Given the description of an element on the screen output the (x, y) to click on. 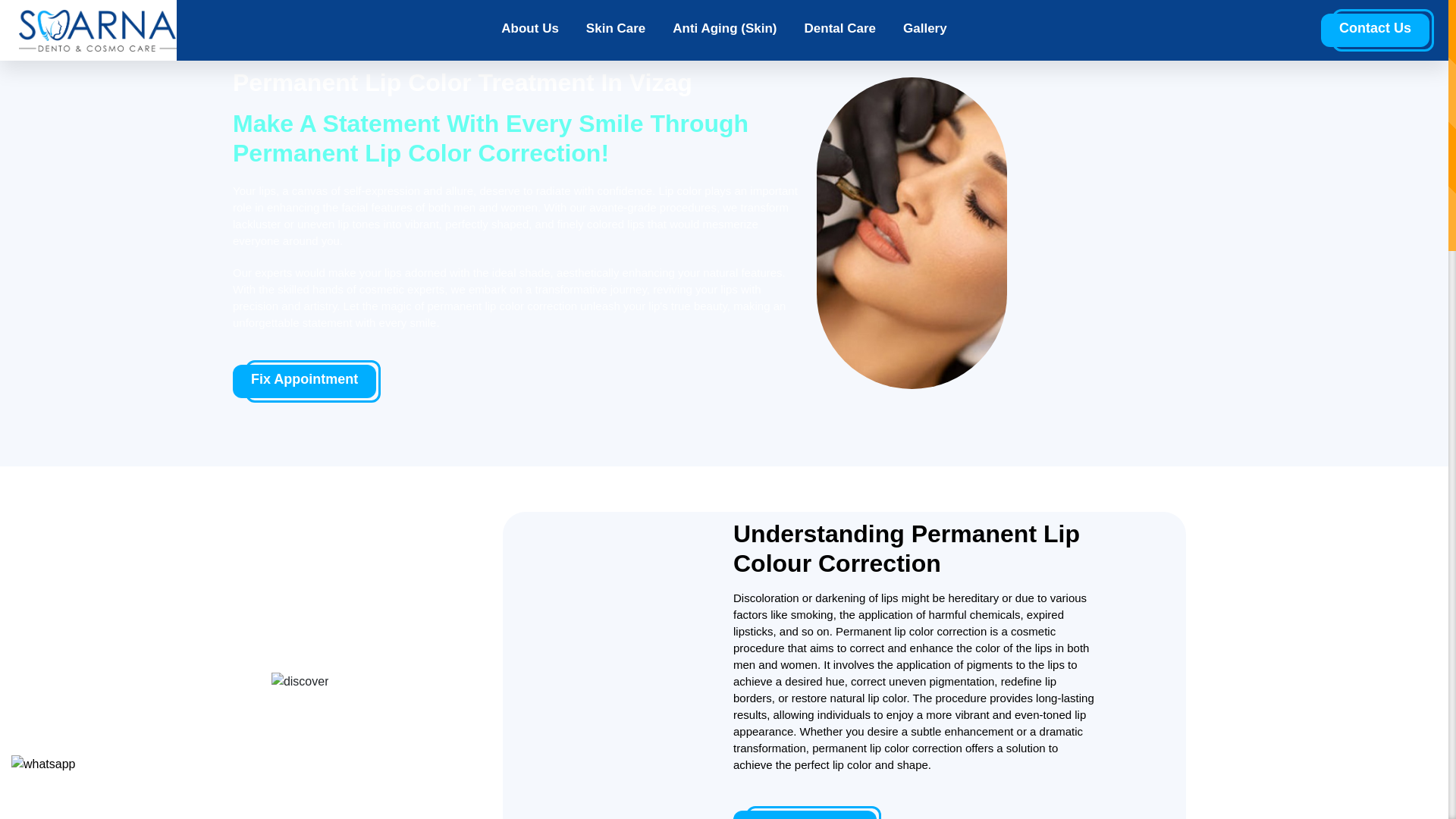
Dental Care (839, 30)
Skin Care (615, 30)
About Us (529, 30)
